Given the description of an element on the screen output the (x, y) to click on. 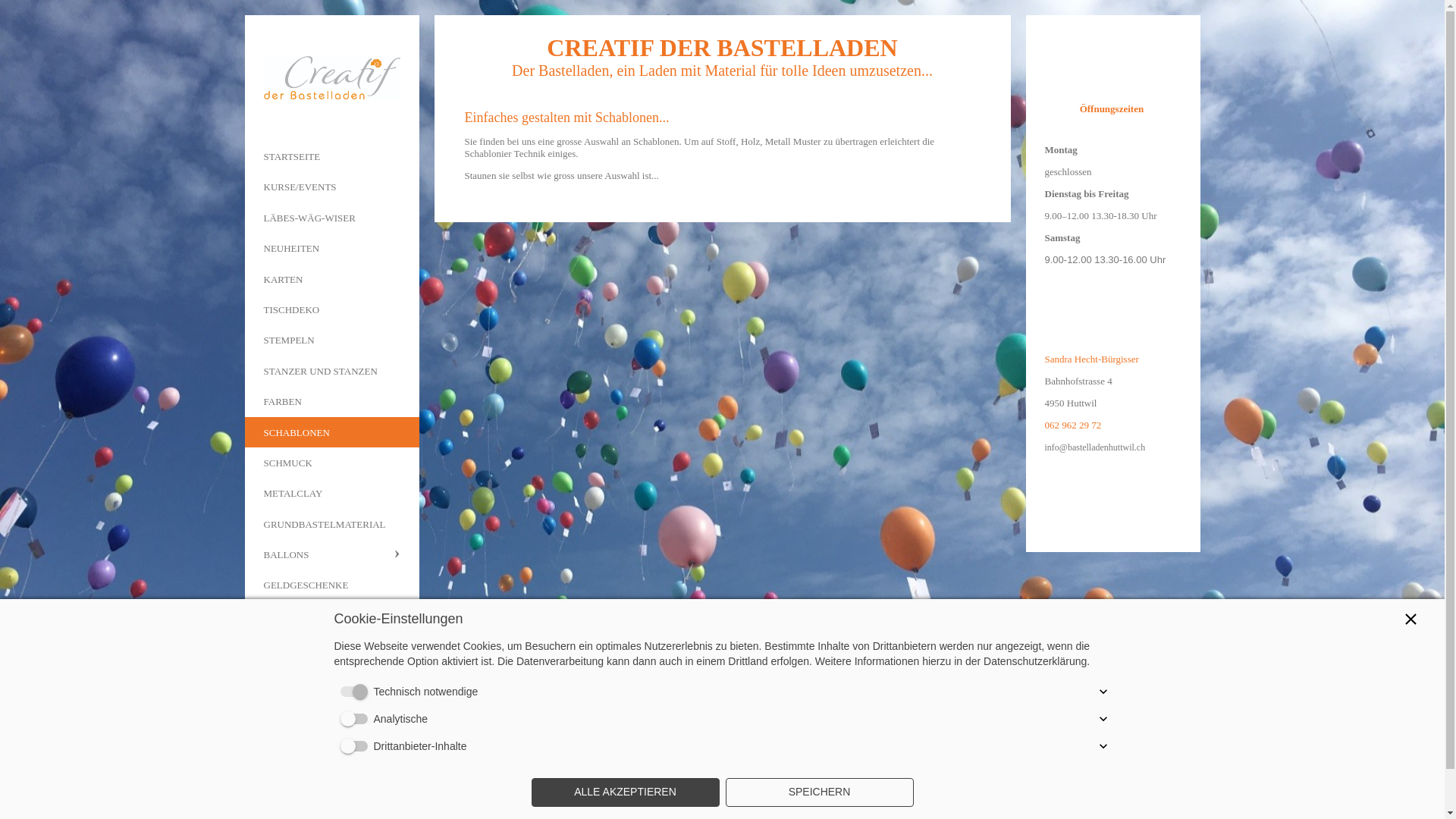
062 962 29 72 Element type: text (1072, 424)
KONTAKT Element type: text (331, 677)
ALLE AKZEPTIEREN Element type: text (624, 792)
NEUHEITEN Element type: text (331, 247)
  Element type: text (331, 78)
METALCLAY Element type: text (331, 492)
PLOTTER Element type: text (331, 615)
GELDGESCHENKE Element type: text (331, 584)
KURSE/EVENTS Element type: text (331, 186)
STARTSEITE Element type: text (331, 156)
STEMPELN Element type: text (331, 339)
STANZER UND STANZEN Element type: text (331, 370)
GRUNDBASTELMATERIAL Element type: text (331, 523)
BALLONS Element type: text (331, 554)
FARBEN Element type: text (331, 400)
SCHABLONEN Element type: text (331, 432)
SCHMUCK Element type: text (331, 462)
UNSER TEAM Element type: text (331, 645)
TISCHDEKO Element type: text (331, 309)
KARTEN Element type: text (331, 278)
SPEICHERN Element type: text (818, 792)
